Given the description of an element on the screen output the (x, y) to click on. 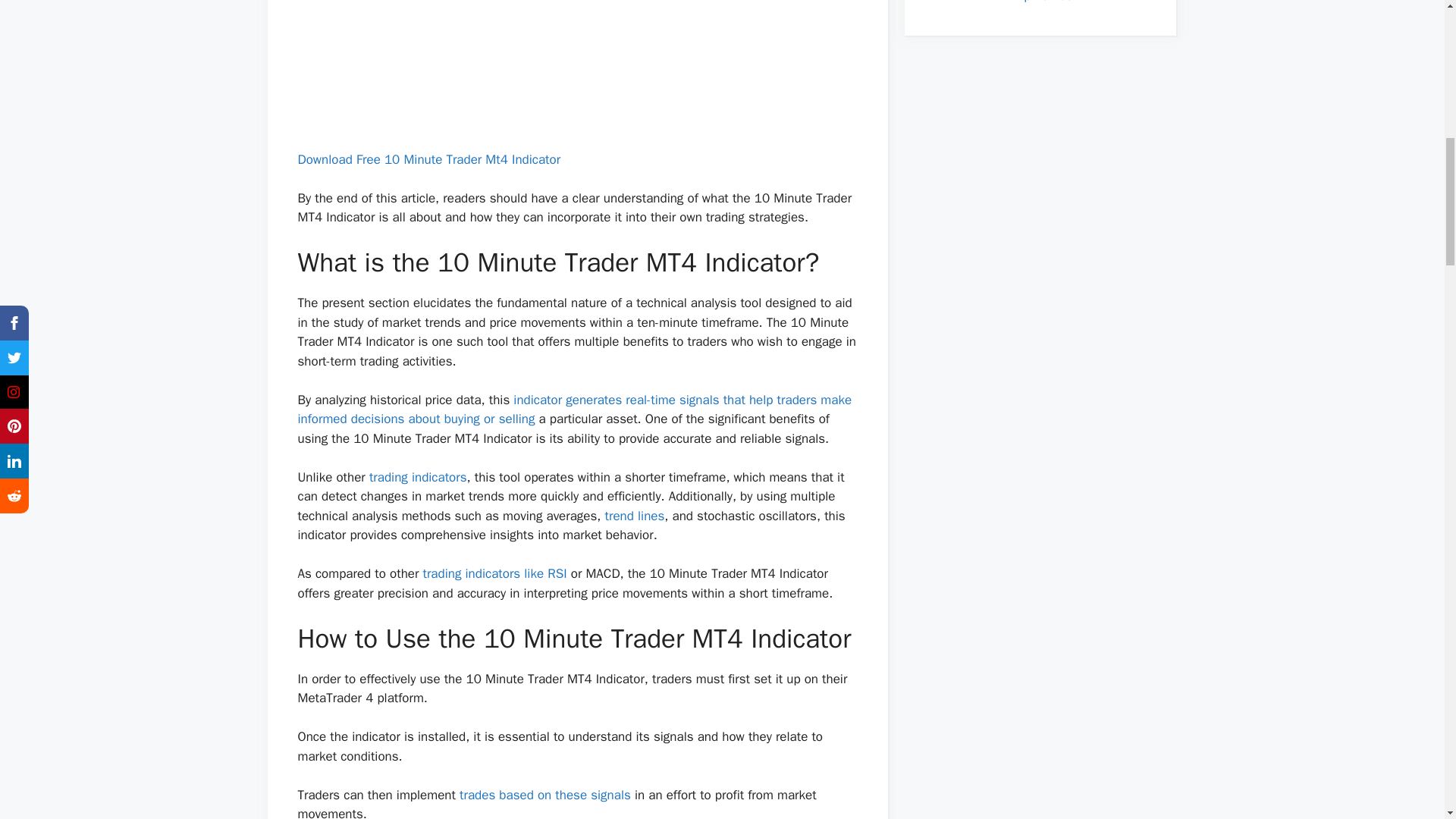
trend lines (635, 515)
trading indicators (418, 477)
trades based on these signals (545, 795)
Download Free 10 Minute Trader Mt4 Indicator (428, 159)
trading indicators like RSI (495, 573)
